Given the description of an element on the screen output the (x, y) to click on. 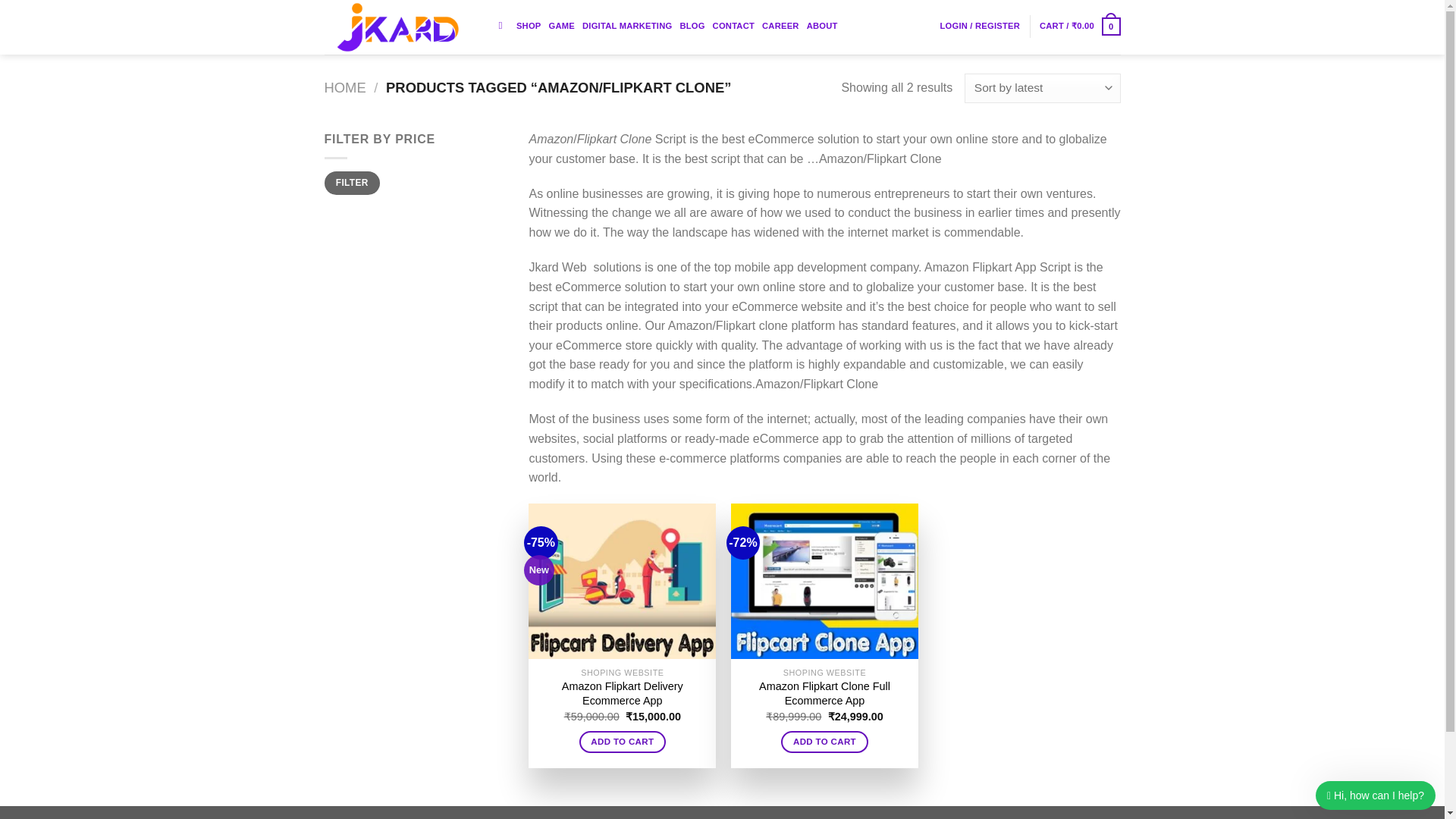
Cart (1080, 25)
Amazon Flipkart Delivery Ecommerce App (621, 693)
Jkard Web Development - Jkard Web Development (400, 27)
DIGITAL MARKETING (626, 25)
ADD TO CART (622, 741)
FILTER (352, 182)
HOME (345, 87)
ADD TO CART (823, 741)
Amazon Flipkart Clone Full Ecommerce App (824, 693)
